Given the description of an element on the screen output the (x, y) to click on. 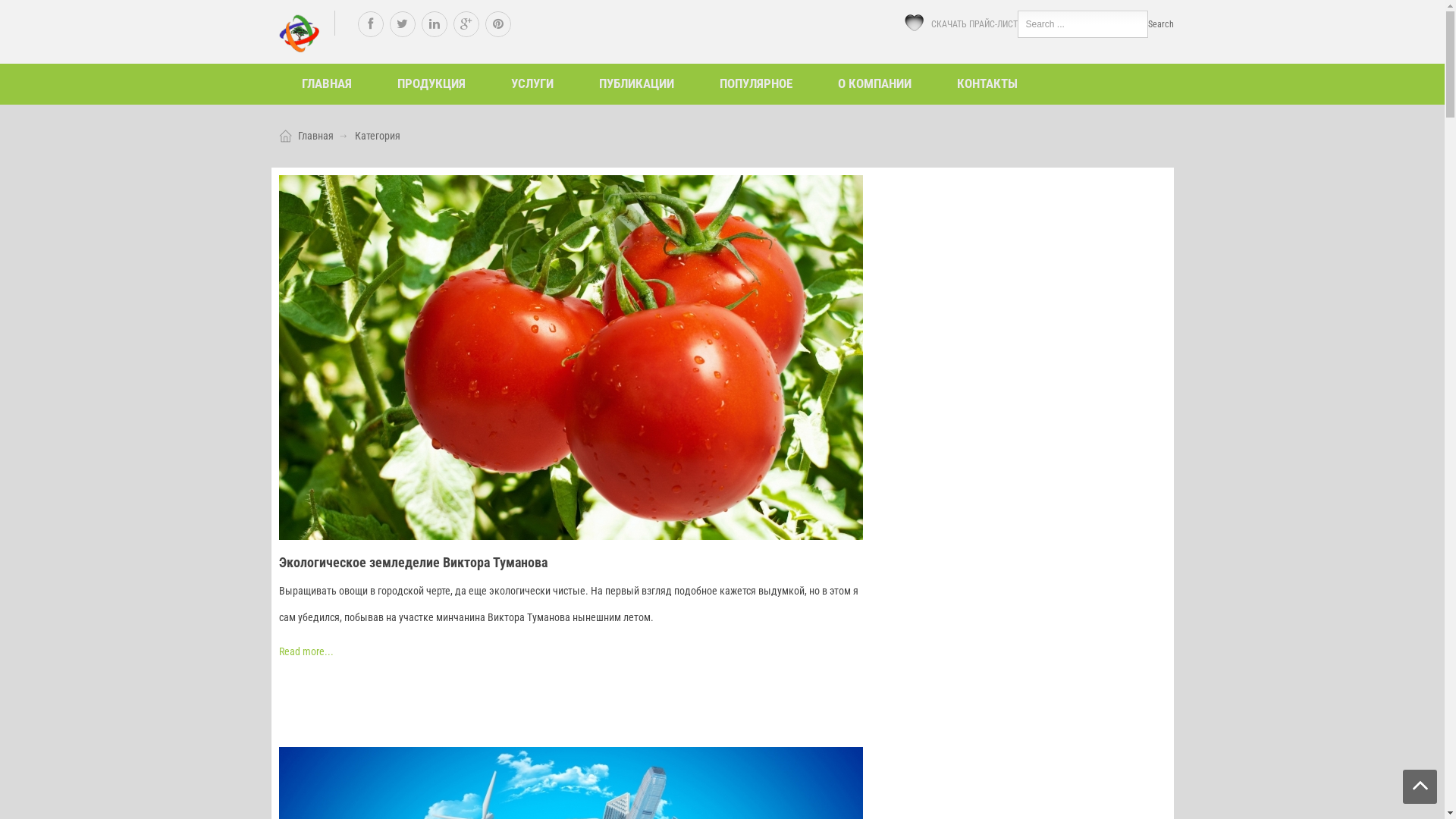
Read more... Element type: text (306, 651)
